Given the description of an element on the screen output the (x, y) to click on. 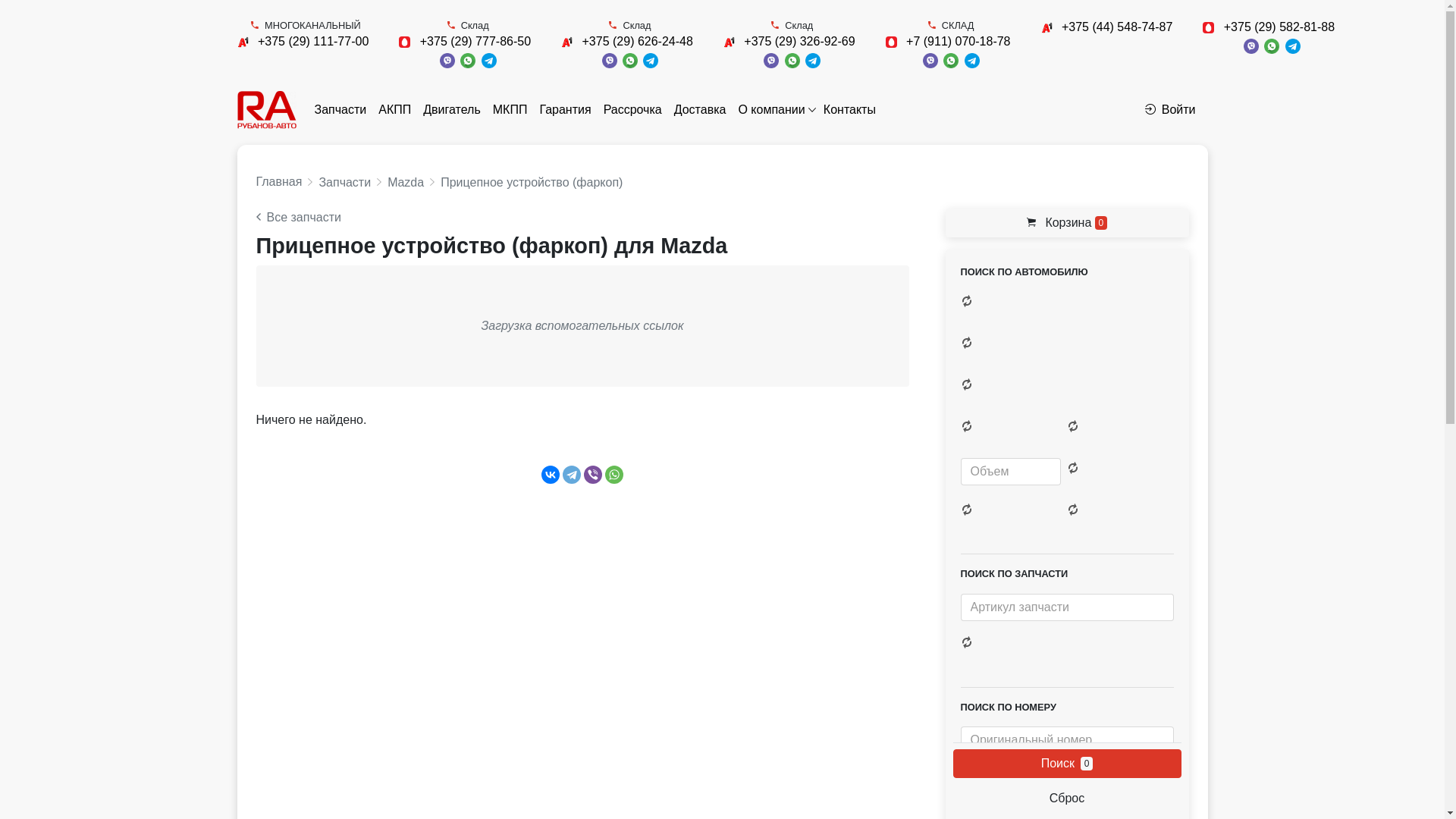
+375 (44) 548-74-87 Element type: text (1116, 26)
+375 (29) 326-92-69 Element type: text (798, 40)
+375 (29) 582-81-88 Element type: text (1278, 26)
Telegram Element type: hover (571, 474)
+375 (29) 777-86-50 Element type: text (475, 40)
Mazda Element type: text (405, 181)
+7 (911) 070-18-78 Element type: text (958, 40)
+375 (29) 626-24-48 Element type: text (637, 40)
+375 (29) 111-77-00 Element type: text (312, 40)
Viber Element type: hover (592, 474)
WhatsApp Element type: hover (614, 474)
